Given the description of an element on the screen output the (x, y) to click on. 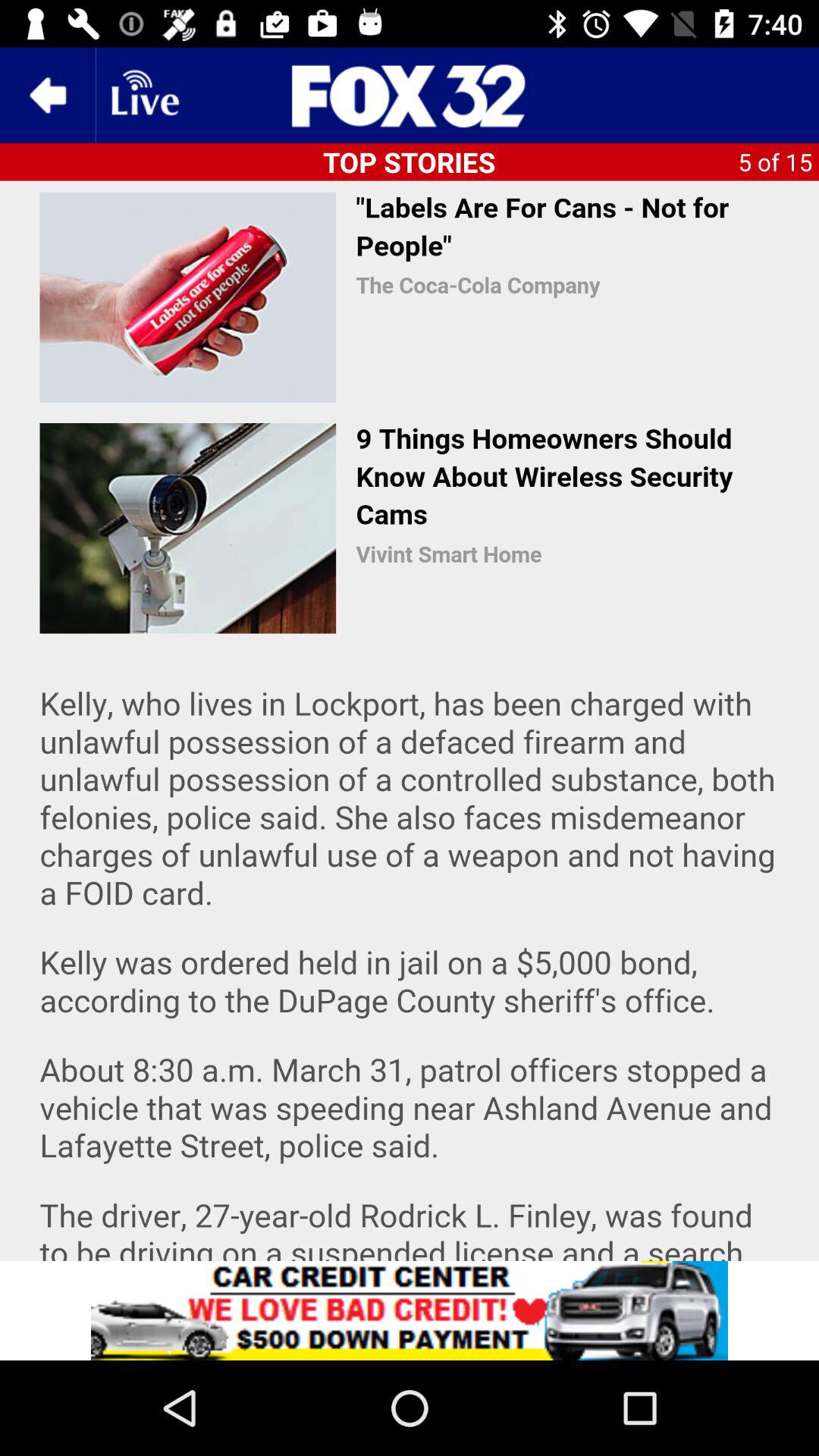
back button (47, 95)
